Given the description of an element on the screen output the (x, y) to click on. 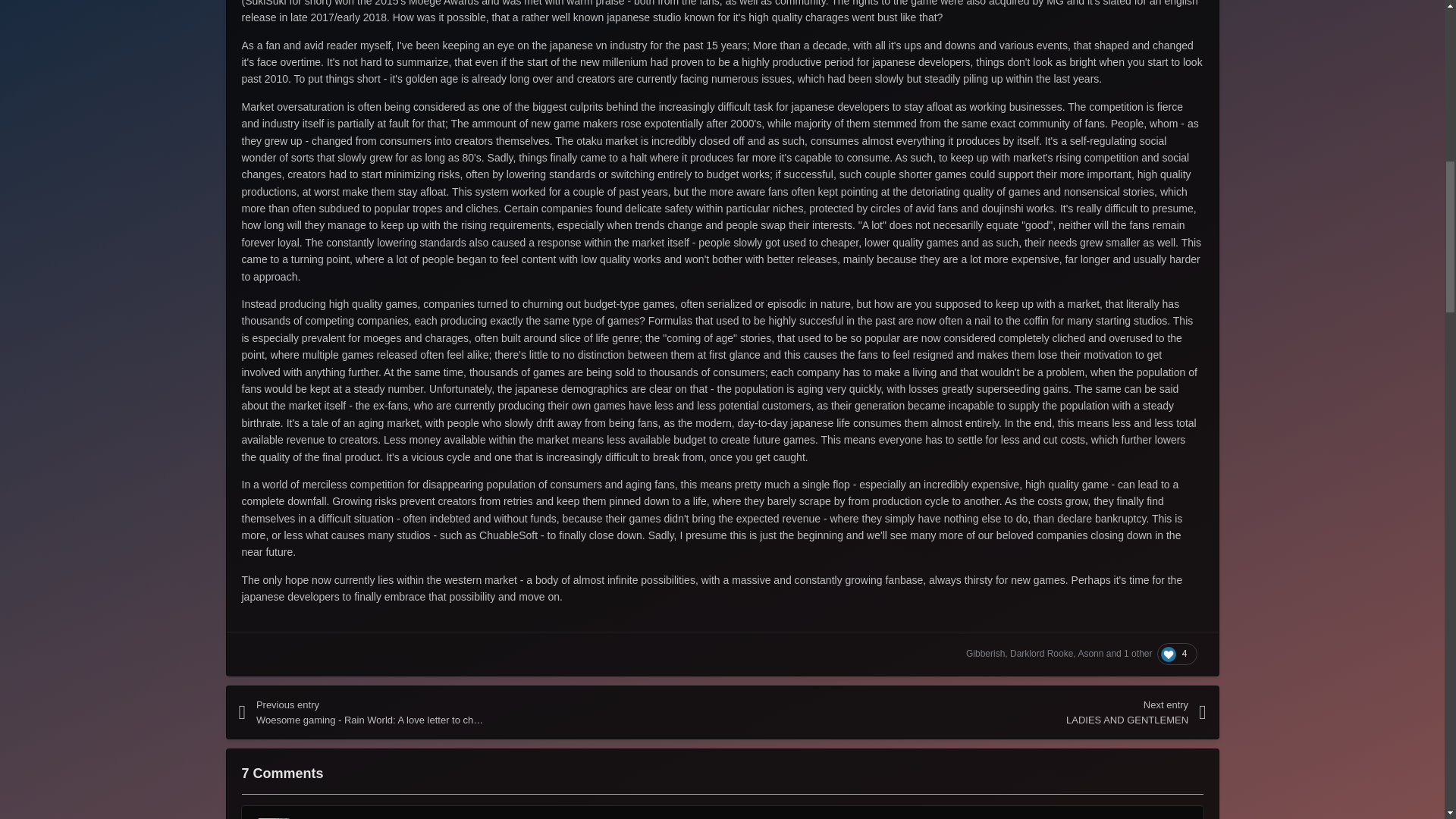
Go to Asonn's profile (1090, 653)
Go to Gibberish's profile (985, 653)
Go to Darklord Rooke's profile (1041, 653)
